Given the description of an element on the screen output the (x, y) to click on. 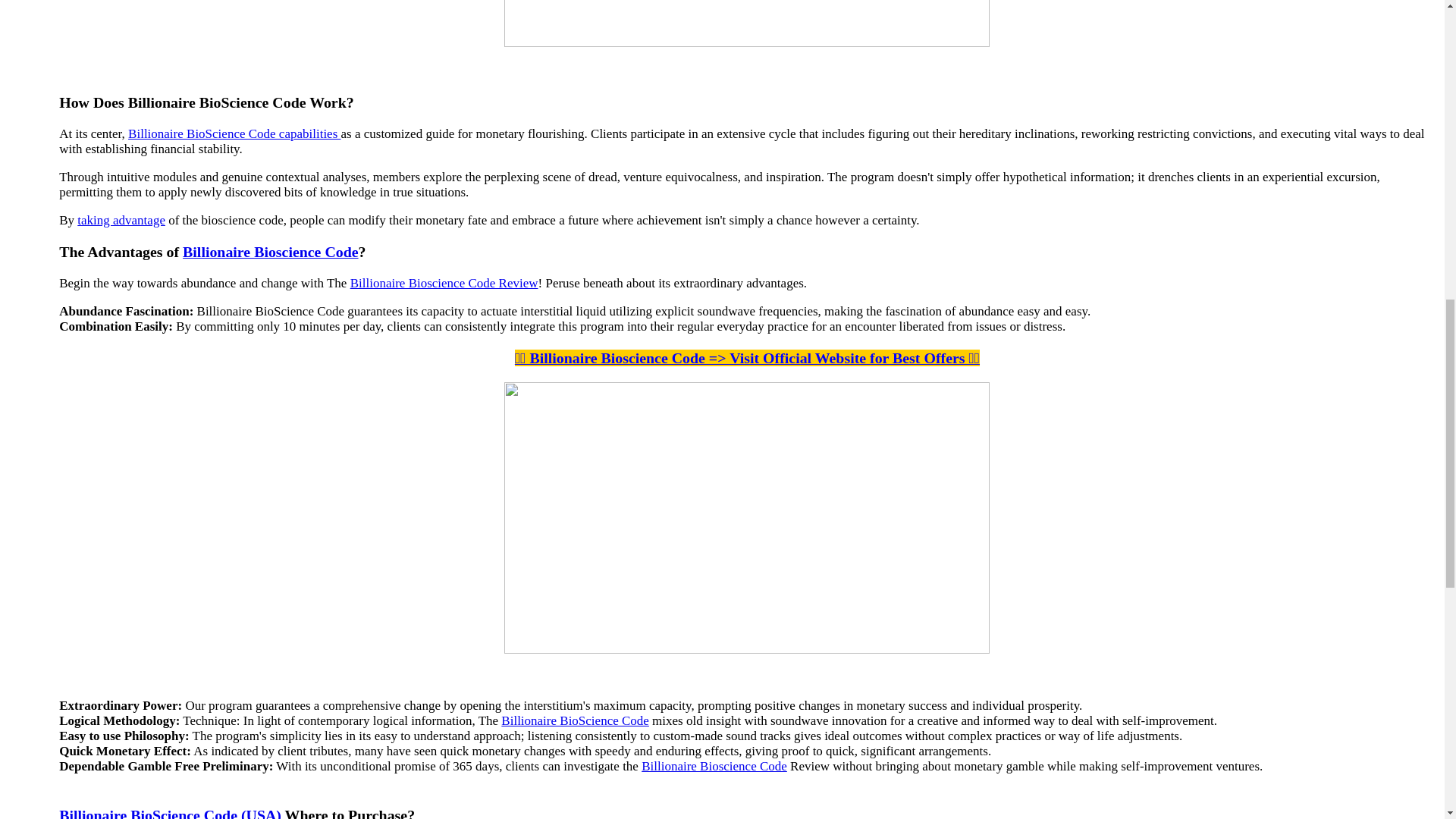
Billionaire Bioscience Code (270, 251)
Billionaire BioScience Code (574, 720)
taking advantage (121, 219)
Billionaire Bioscience Code Review (444, 283)
Billionaire Bioscience Code (714, 766)
Billionaire BioScience Code capabilities  (234, 133)
